Given the description of an element on the screen output the (x, y) to click on. 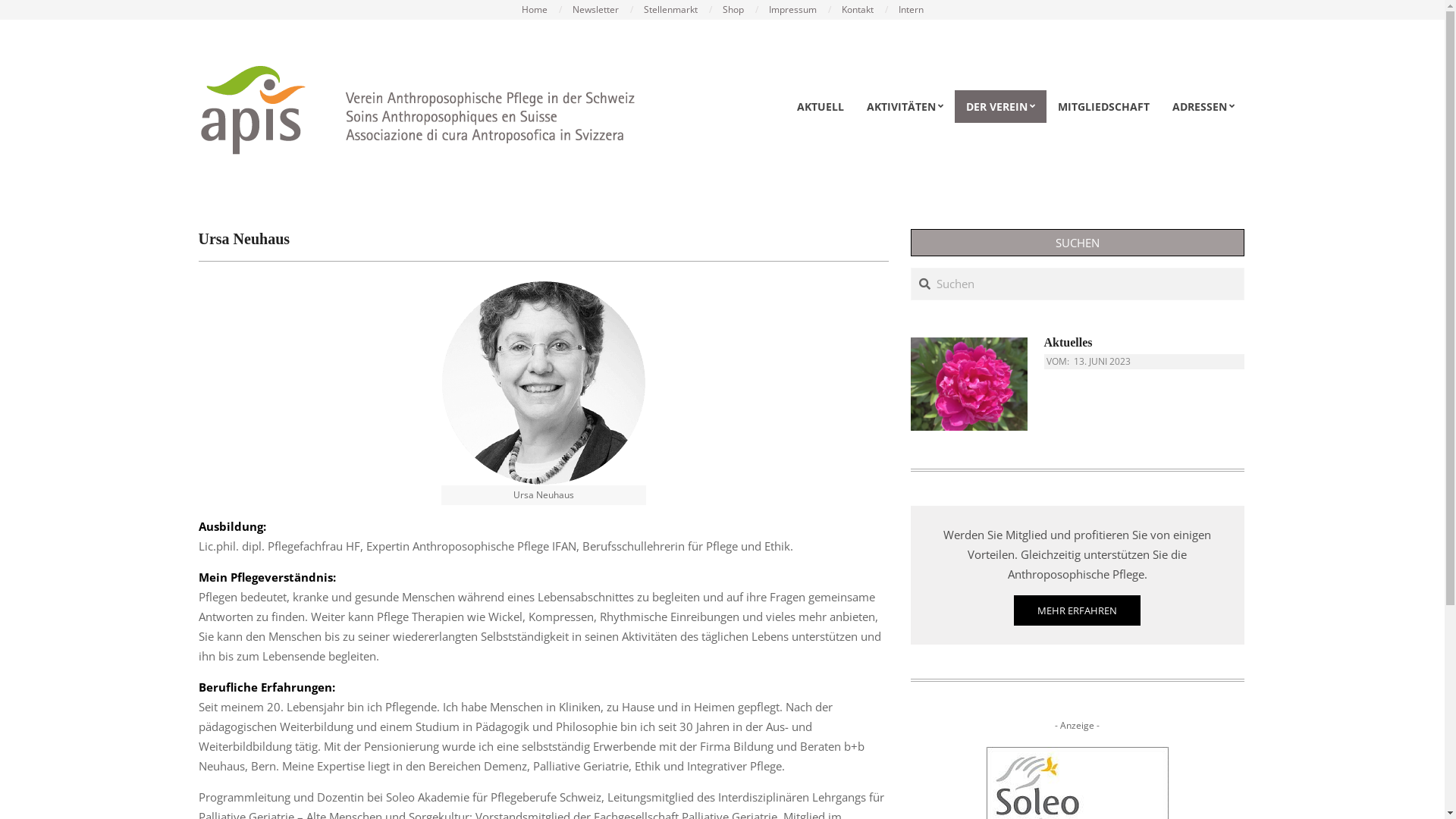
Shop Element type: text (732, 9)
Kontakt Element type: text (857, 9)
AKTUELL Element type: text (820, 106)
MEHR ERFAHREN Element type: text (1076, 610)
DER VEREIN Element type: text (999, 106)
MITGLIEDSCHAFT Element type: text (1103, 106)
Aktuelles Element type: text (1143, 342)
Newsletter Element type: text (594, 9)
Intern Element type: text (909, 9)
Stellenmarkt Element type: text (669, 9)
Impressum Element type: text (792, 9)
Home Element type: text (534, 9)
ADRESSEN Element type: text (1202, 106)
